Given the description of an element on the screen output the (x, y) to click on. 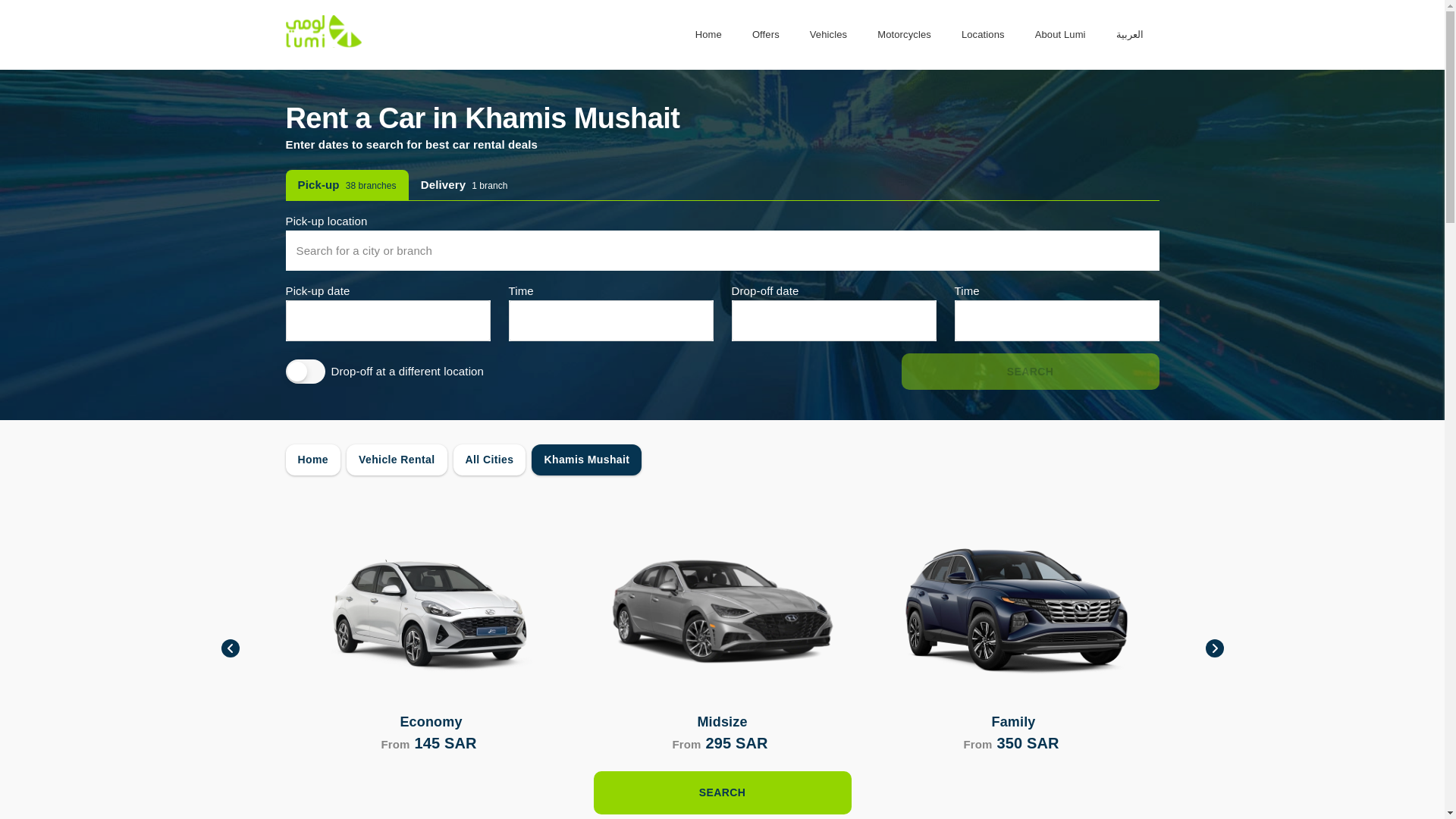
Khamis Mushait (586, 459)
Offers (765, 34)
Locations (982, 34)
Locations (982, 34)
SEARCH (721, 792)
Khamis Mushait (586, 459)
Lumi Logo (323, 43)
Motorcycles (904, 34)
About Lumi (1060, 34)
SEARCH (1029, 371)
Vehicles (464, 184)
Home (828, 34)
Offers (312, 459)
All Cities (765, 34)
